Given the description of an element on the screen output the (x, y) to click on. 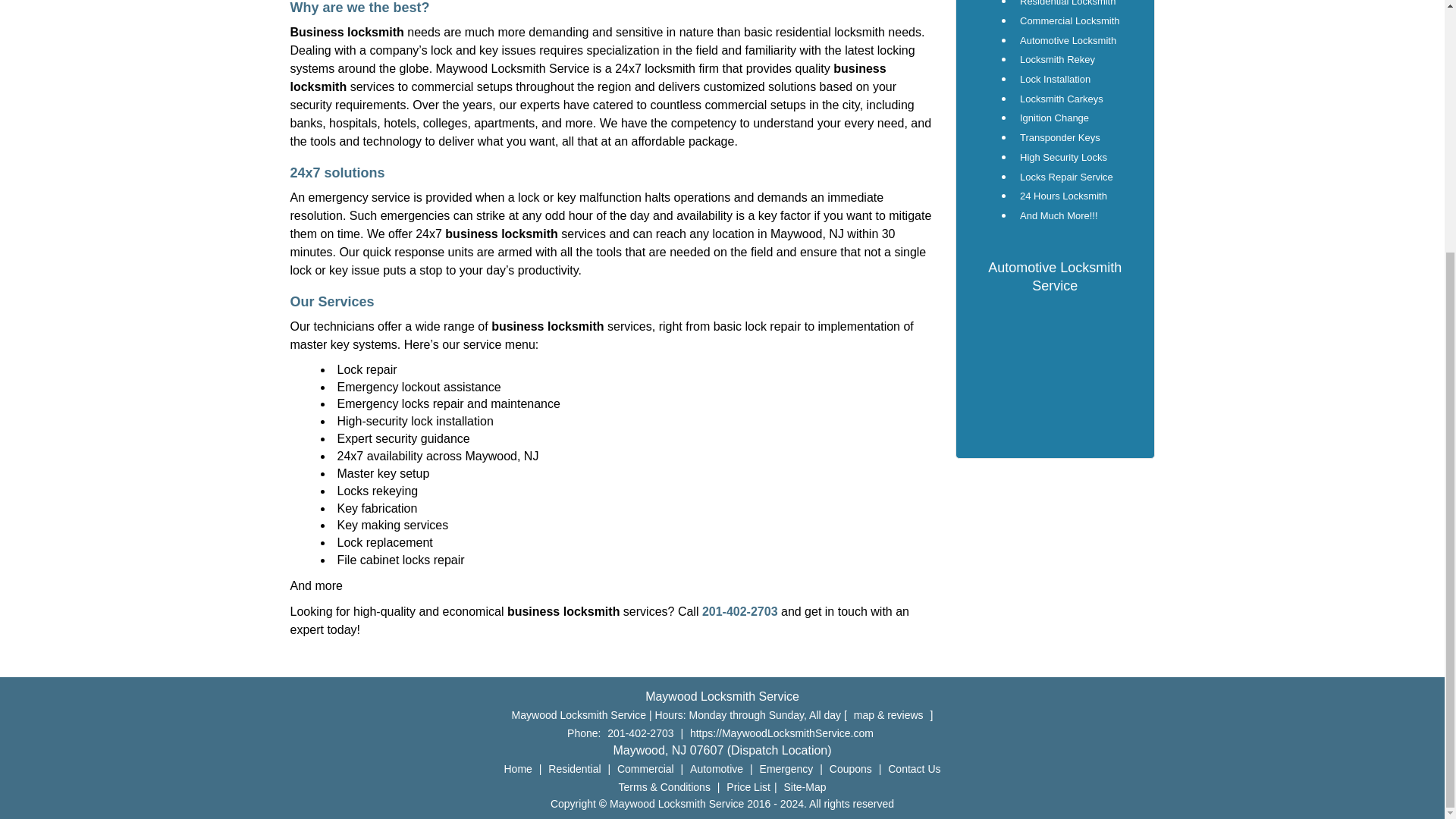
Home (517, 768)
Automotive Locksmith Service (1054, 276)
201-402-2703 (739, 611)
Automotive (715, 768)
Residential (574, 768)
201-402-2703 (640, 733)
Commercial (645, 768)
